Given the description of an element on the screen output the (x, y) to click on. 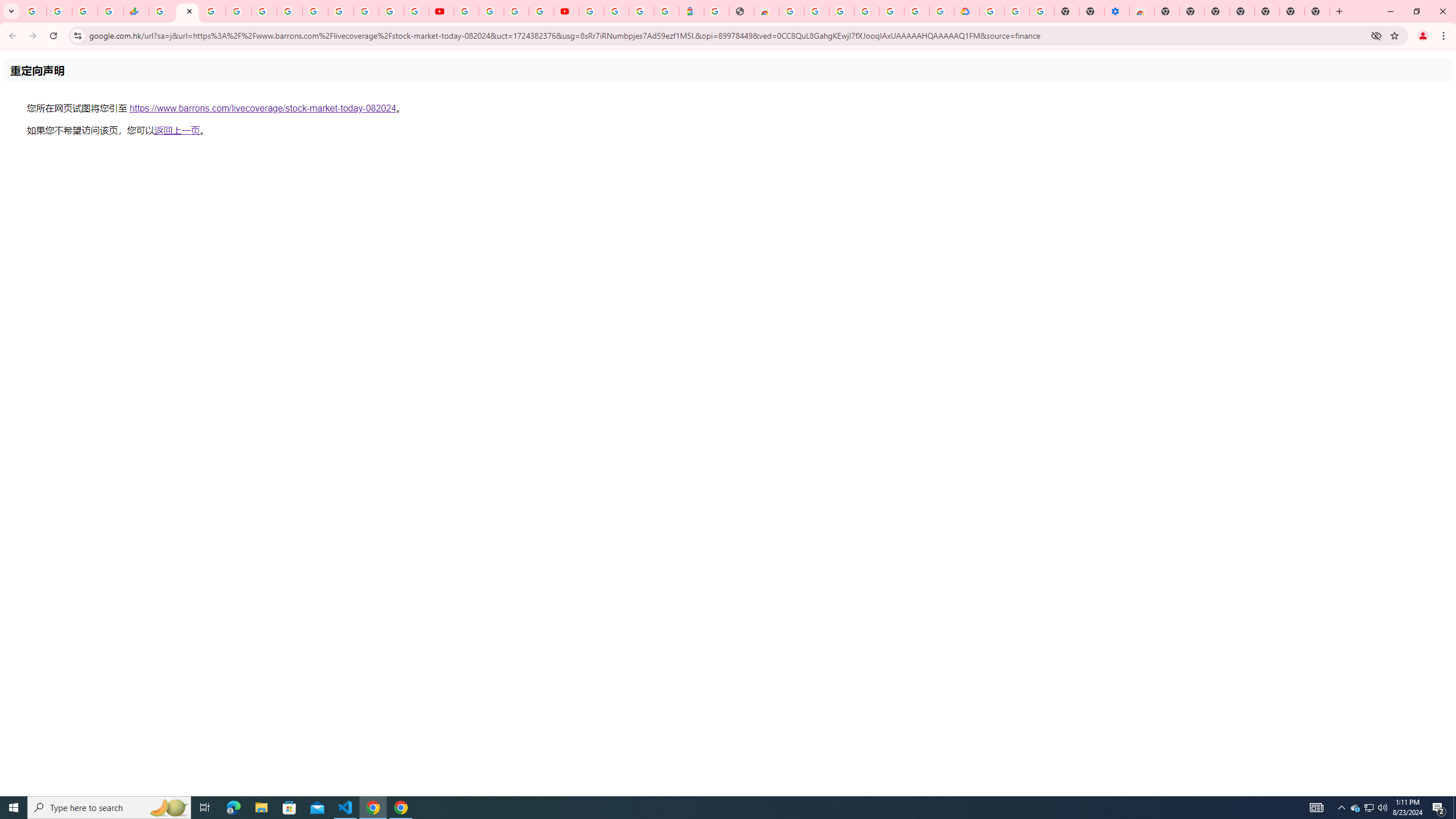
YouTube (340, 11)
Atour Hotel - Google hotels (691, 11)
Google Account Help (491, 11)
Chrome Web Store - Accessibility extensions (1141, 11)
Privacy Checkup (415, 11)
